Given the description of an element on the screen output the (x, y) to click on. 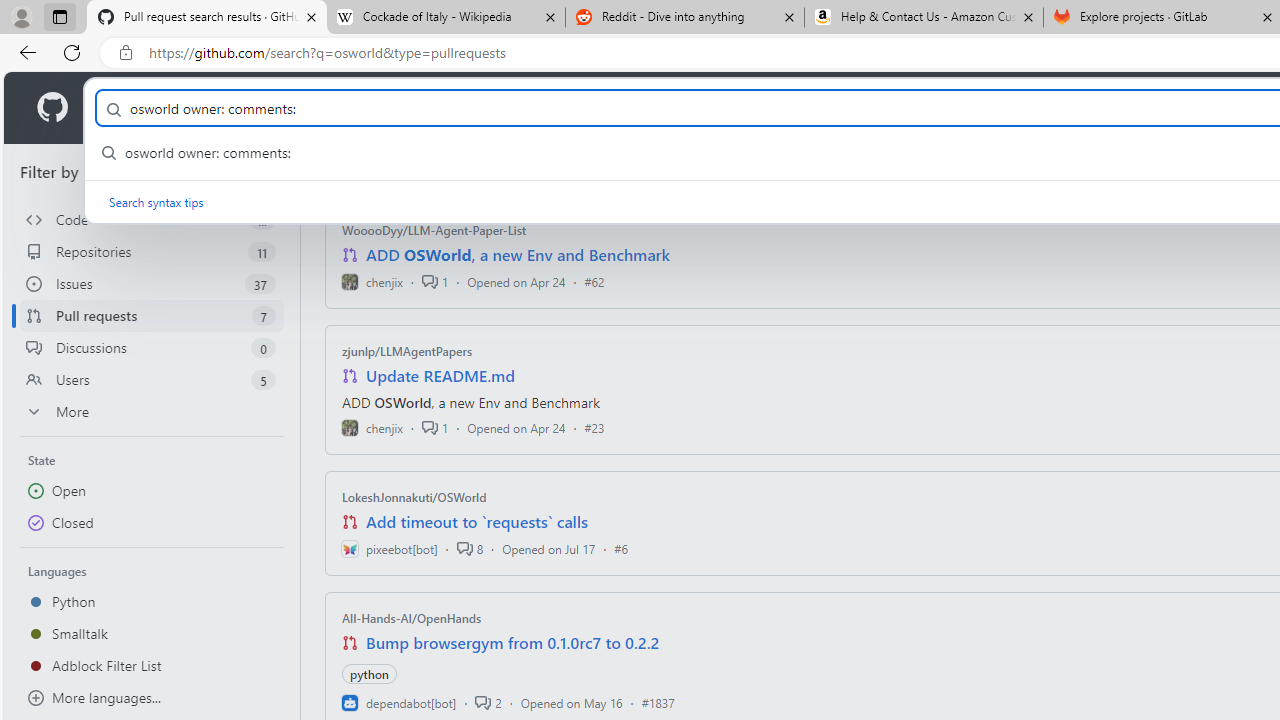
dependabot[bot] (398, 702)
Resources (330, 107)
Solutions (225, 107)
2 (487, 702)
#62 (594, 281)
Open Source (446, 107)
#23 (594, 427)
More (152, 411)
Bump browsergym from 0.1.0rc7 to 0.2.2 (513, 642)
